Given the description of an element on the screen output the (x, y) to click on. 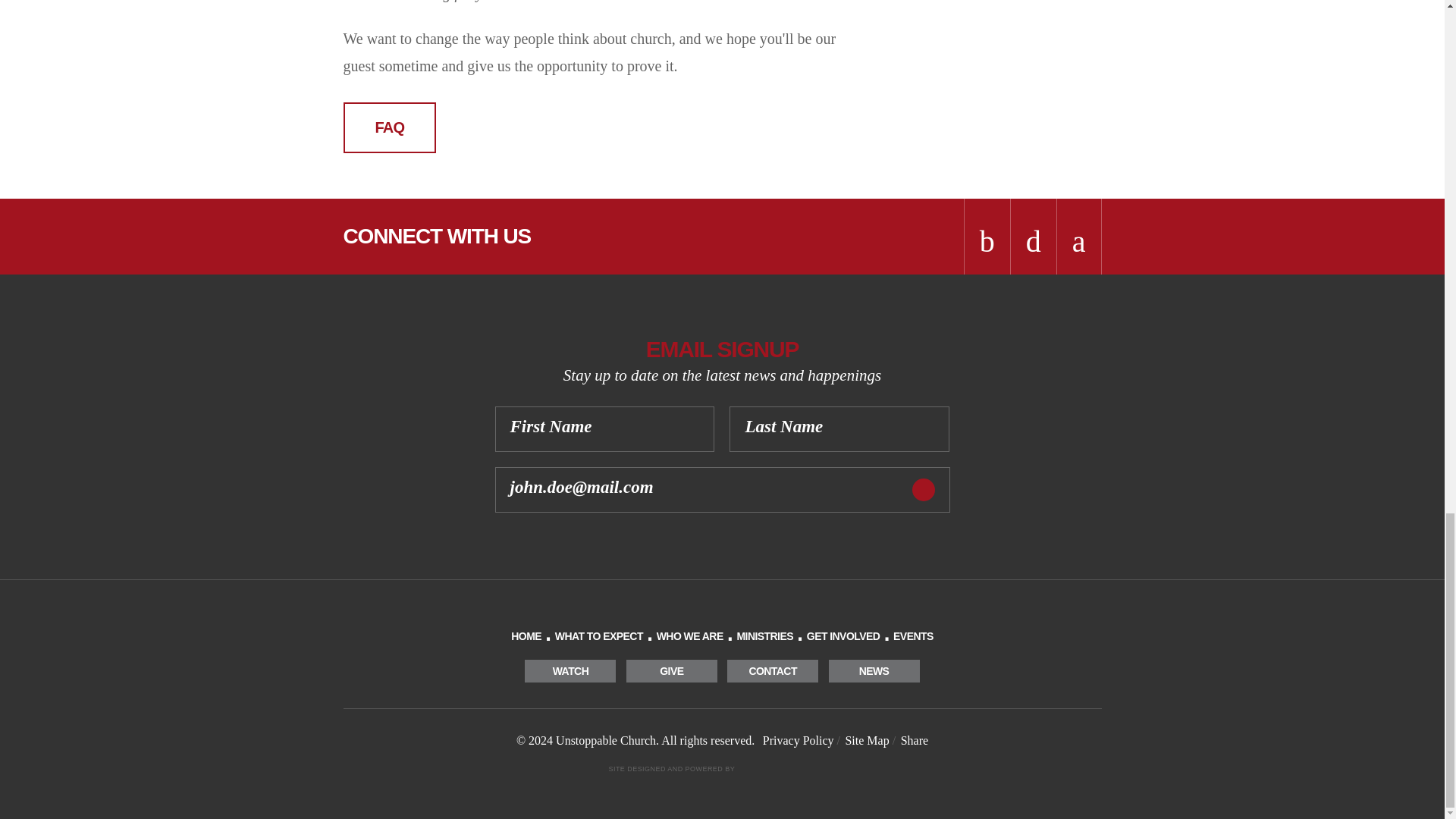
Site designed and powered by Church Media Group (721, 768)
GET INVOLVED (842, 635)
WHO WE ARE (689, 635)
Submit (922, 489)
WHAT TO EXPECT (598, 635)
GIVE (671, 671)
MINISTRIES (764, 635)
Submit (922, 489)
WATCH (569, 671)
EVENTS (913, 635)
